Given the description of an element on the screen output the (x, y) to click on. 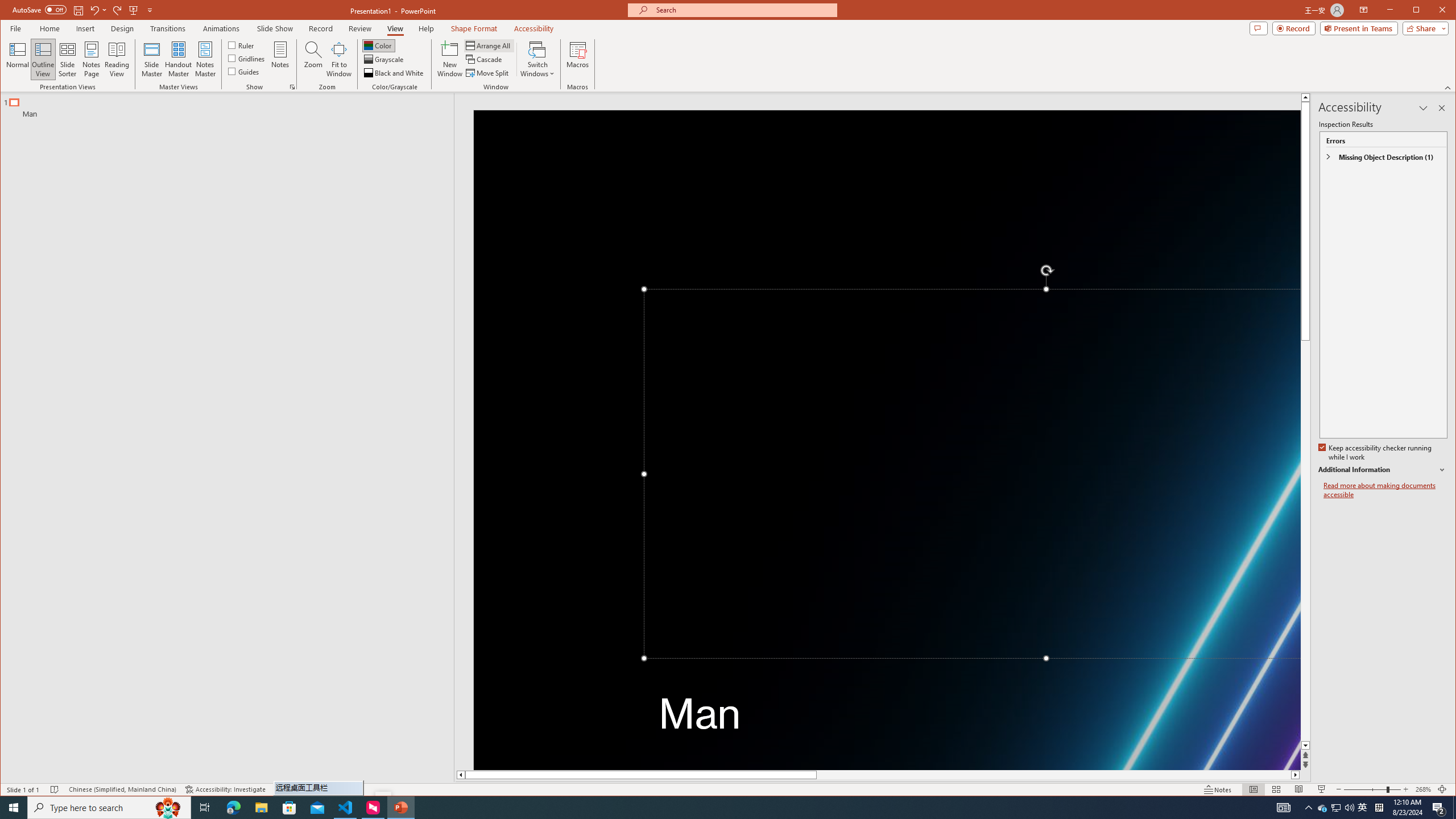
Black and White (394, 72)
New Window (450, 59)
Fit to Window (338, 59)
Handout Master (178, 59)
Arrange All (488, 45)
